Given the description of an element on the screen output the (x, y) to click on. 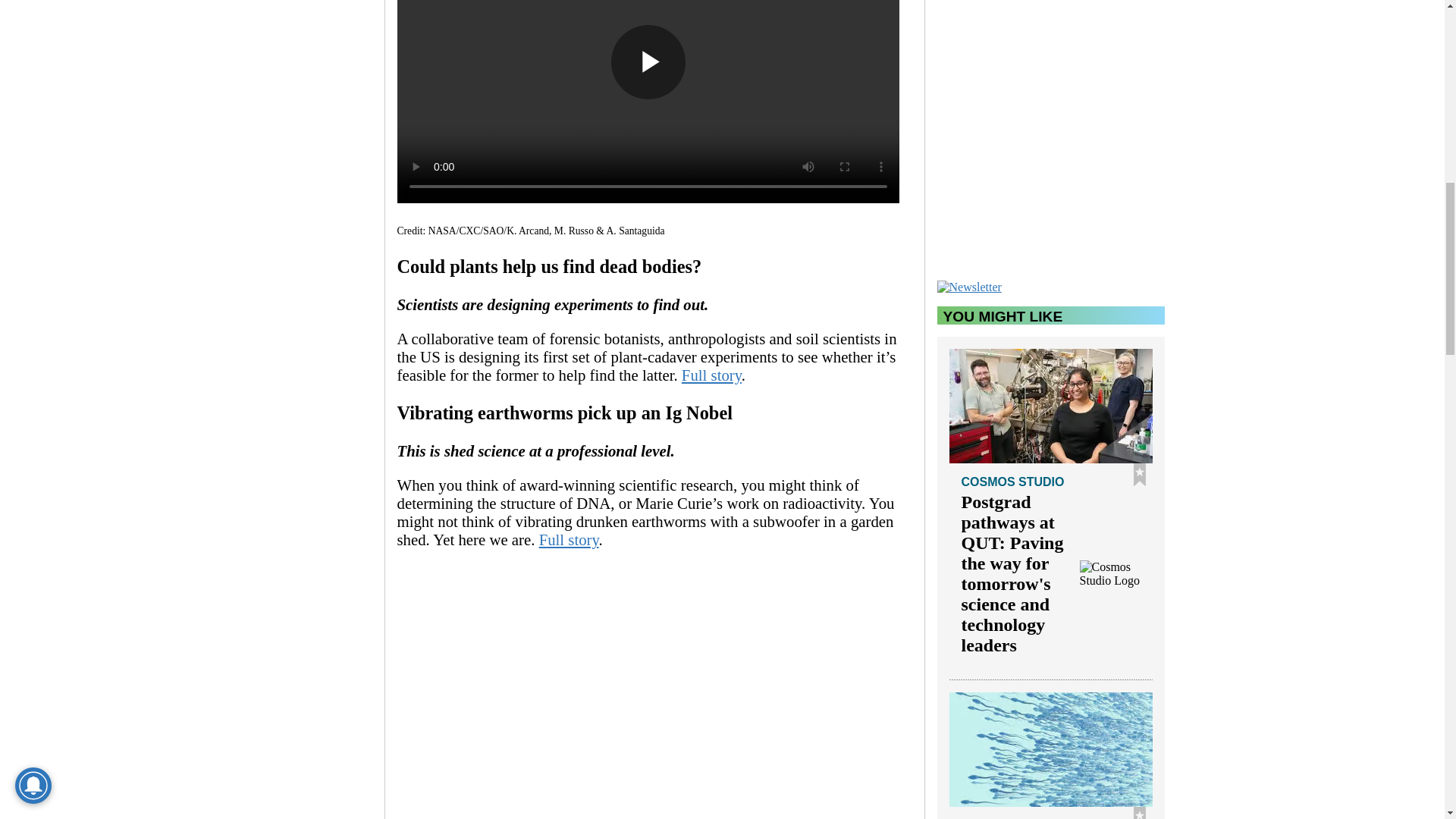
Full story (711, 375)
Full story (568, 538)
and 12 others that we found intriguing 1 (648, 699)
